Given the description of an element on the screen output the (x, y) to click on. 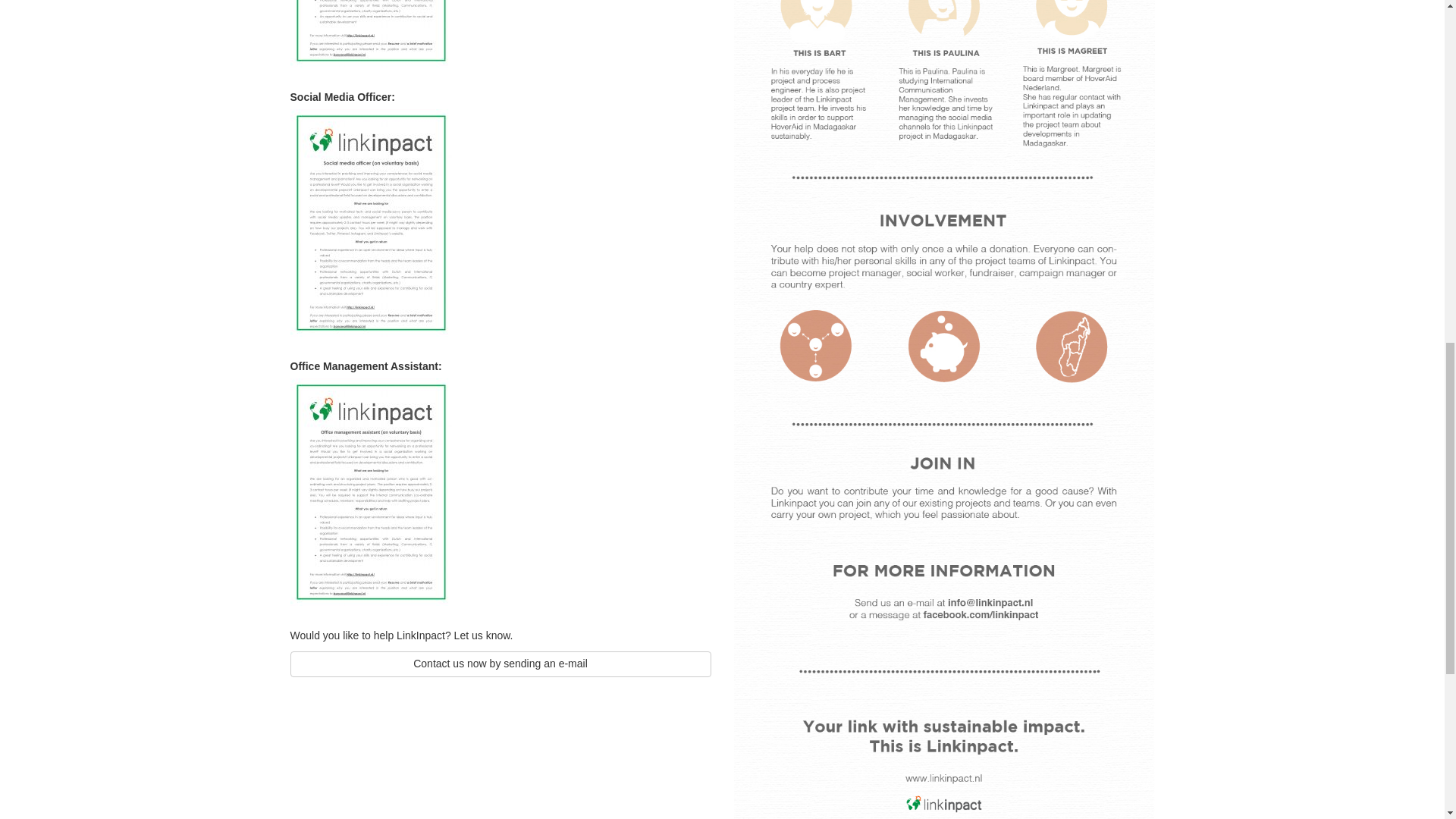
Contact us now by sending an e-mail (499, 664)
